Given the description of an element on the screen output the (x, y) to click on. 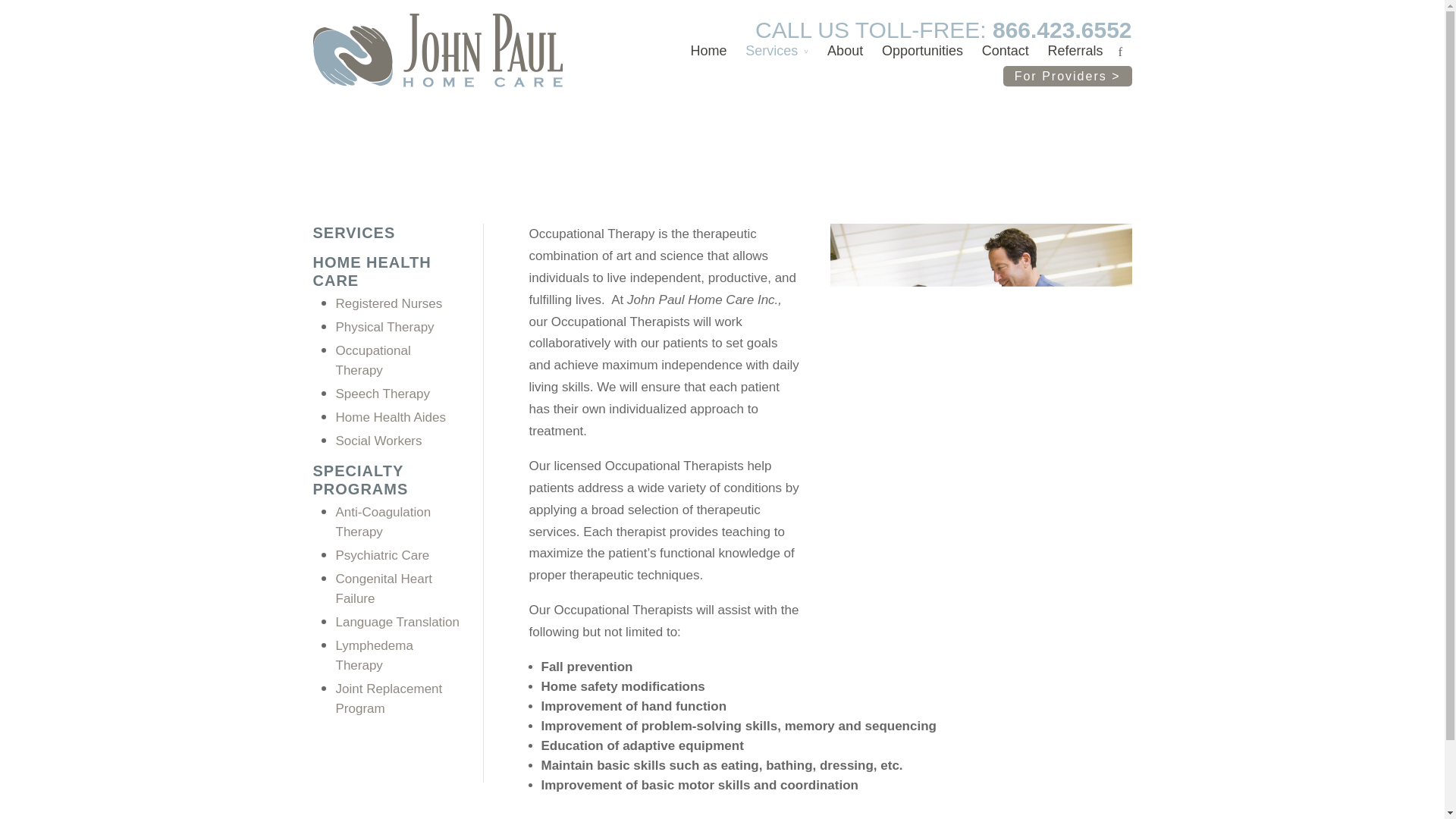
Lymphedema Therapy (373, 655)
Congenital Heart Failure (383, 588)
Language Translation (397, 622)
Physical Therapy (383, 327)
Speech Therapy (381, 393)
Psychiatric Care (381, 554)
About (845, 54)
Anti-Coagulation Therapy (382, 521)
Opportunities (922, 54)
Home Health Aides (389, 417)
